Given the description of an element on the screen output the (x, y) to click on. 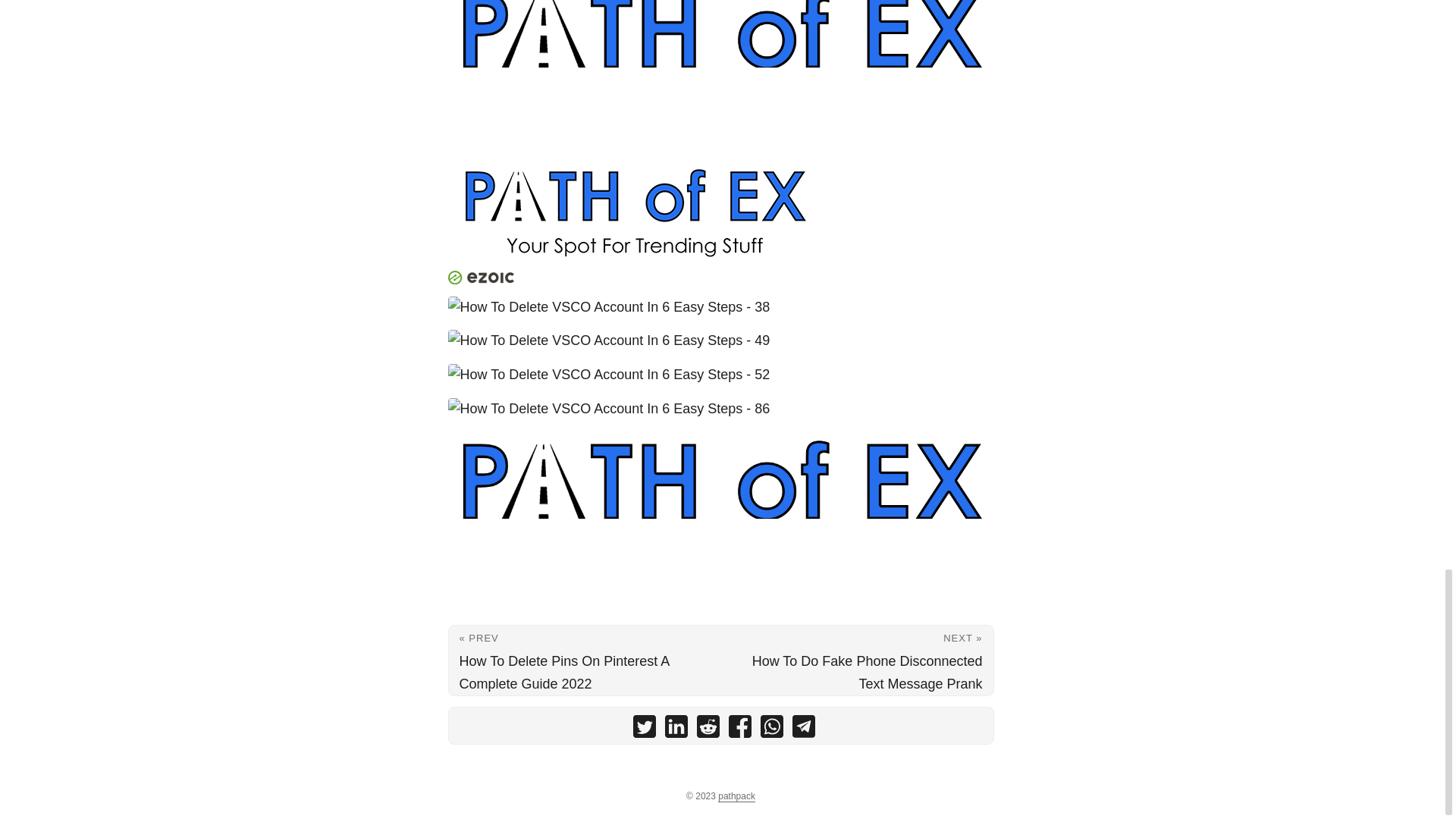
pathpack (736, 796)
